Given the description of an element on the screen output the (x, y) to click on. 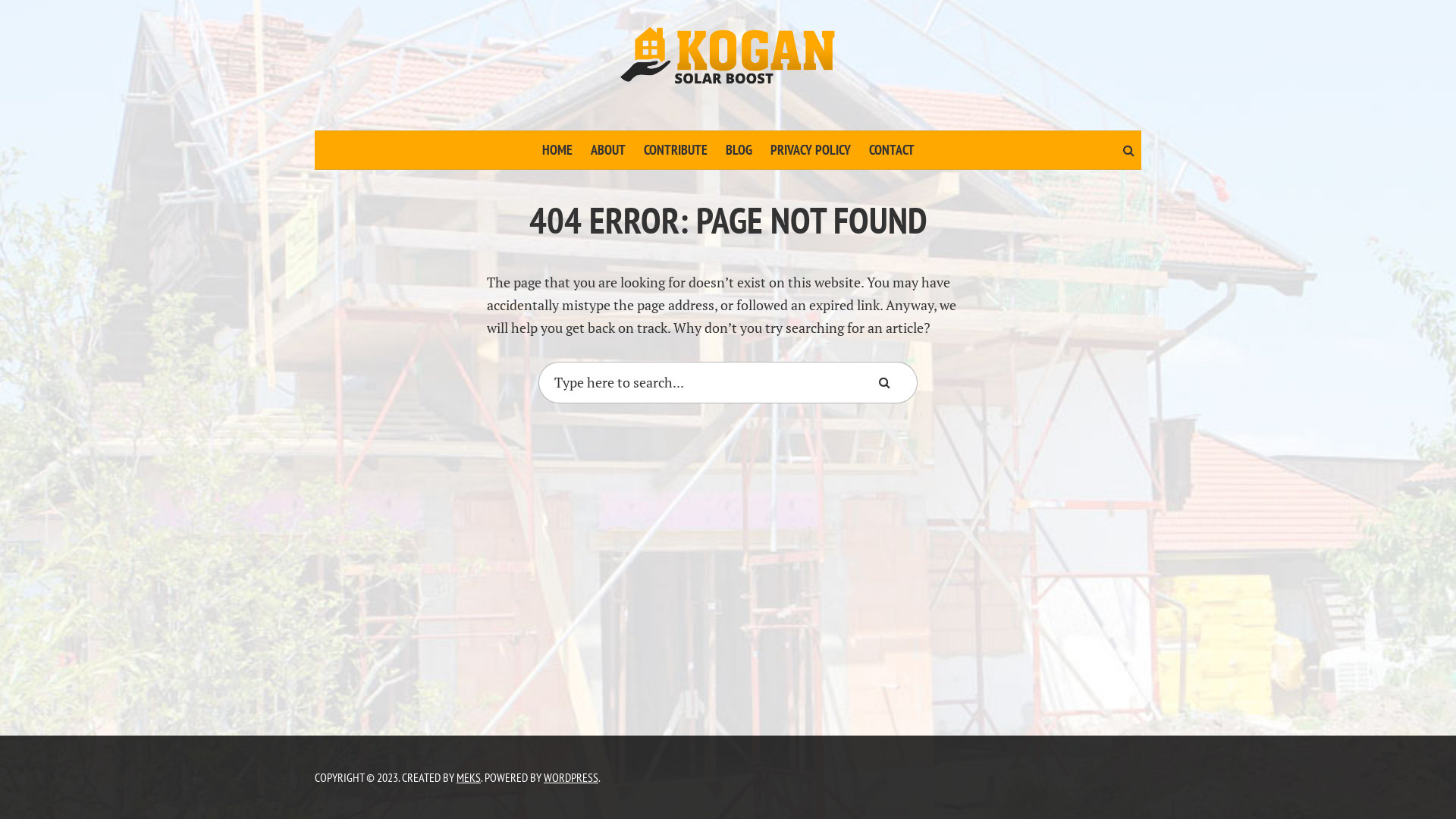
PRIVACY POLICY Element type: text (810, 150)
HOME Element type: text (556, 150)
BLOG Element type: text (738, 150)
WORDPRESS Element type: text (570, 776)
MEKS Element type: text (468, 776)
ABOUT Element type: text (607, 150)
CONTRIBUTE Element type: text (674, 150)
CONTACT Element type: text (891, 150)
